Given the description of an element on the screen output the (x, y) to click on. 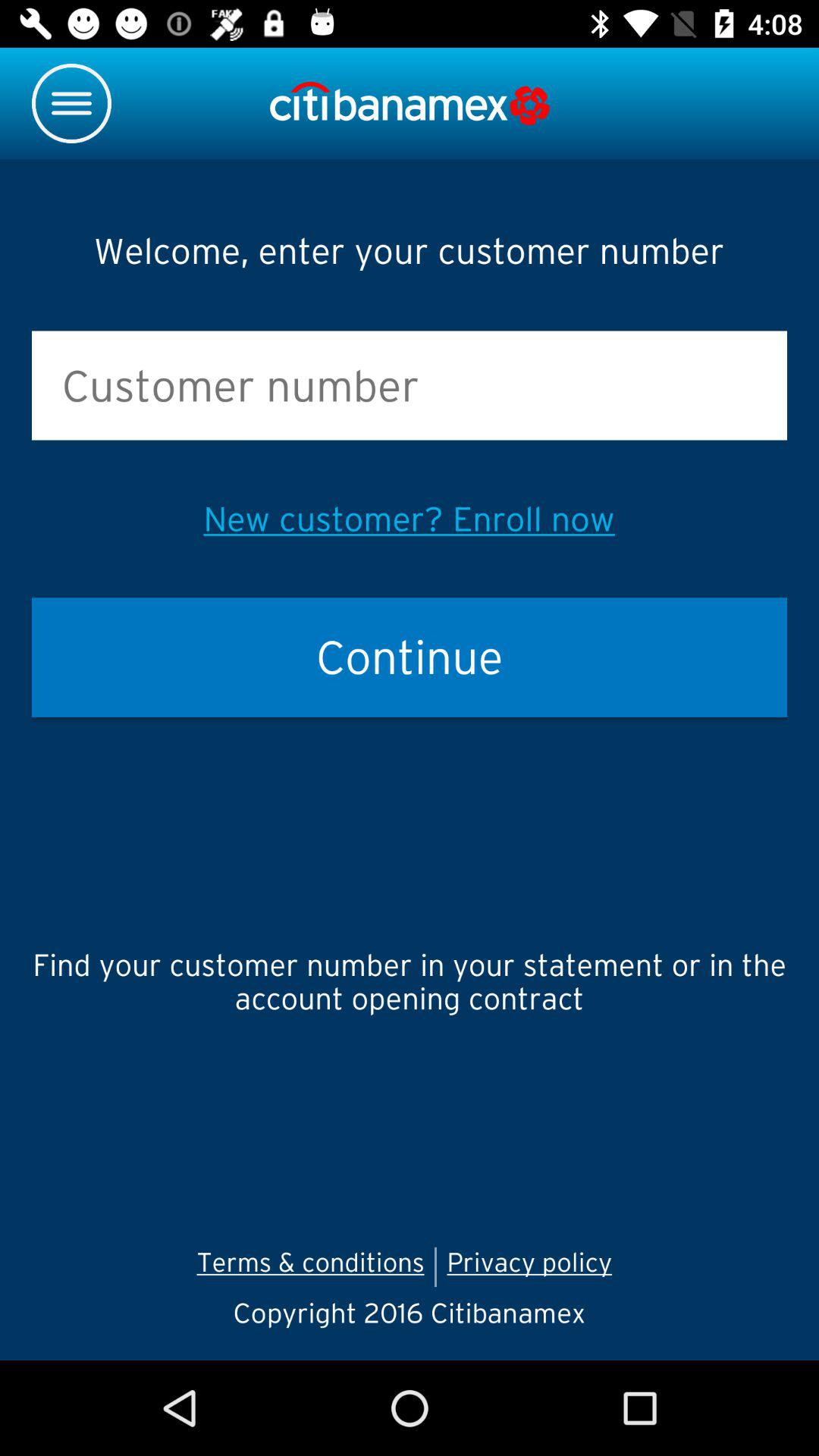
input customer id (409, 385)
